Given the description of an element on the screen output the (x, y) to click on. 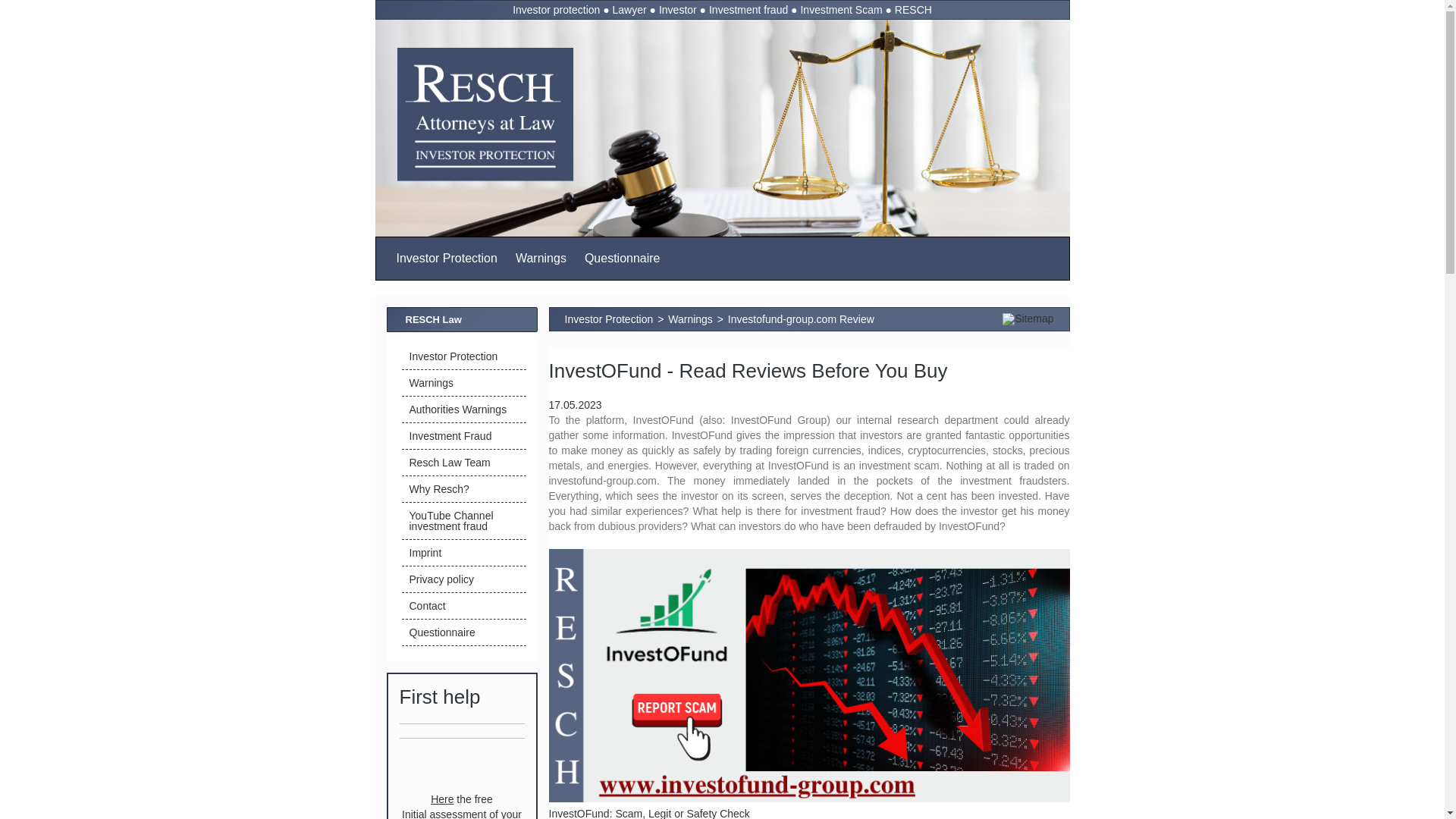
Questionnaire (622, 258)
Warnings (463, 383)
Imprint (463, 552)
Questionnaire (622, 258)
Warnings (463, 383)
Investor Protection (463, 356)
Contact (463, 605)
Warnings (540, 258)
Investor Protection (463, 356)
YouTube Channel investment fraud (463, 520)
